Given the description of an element on the screen output the (x, y) to click on. 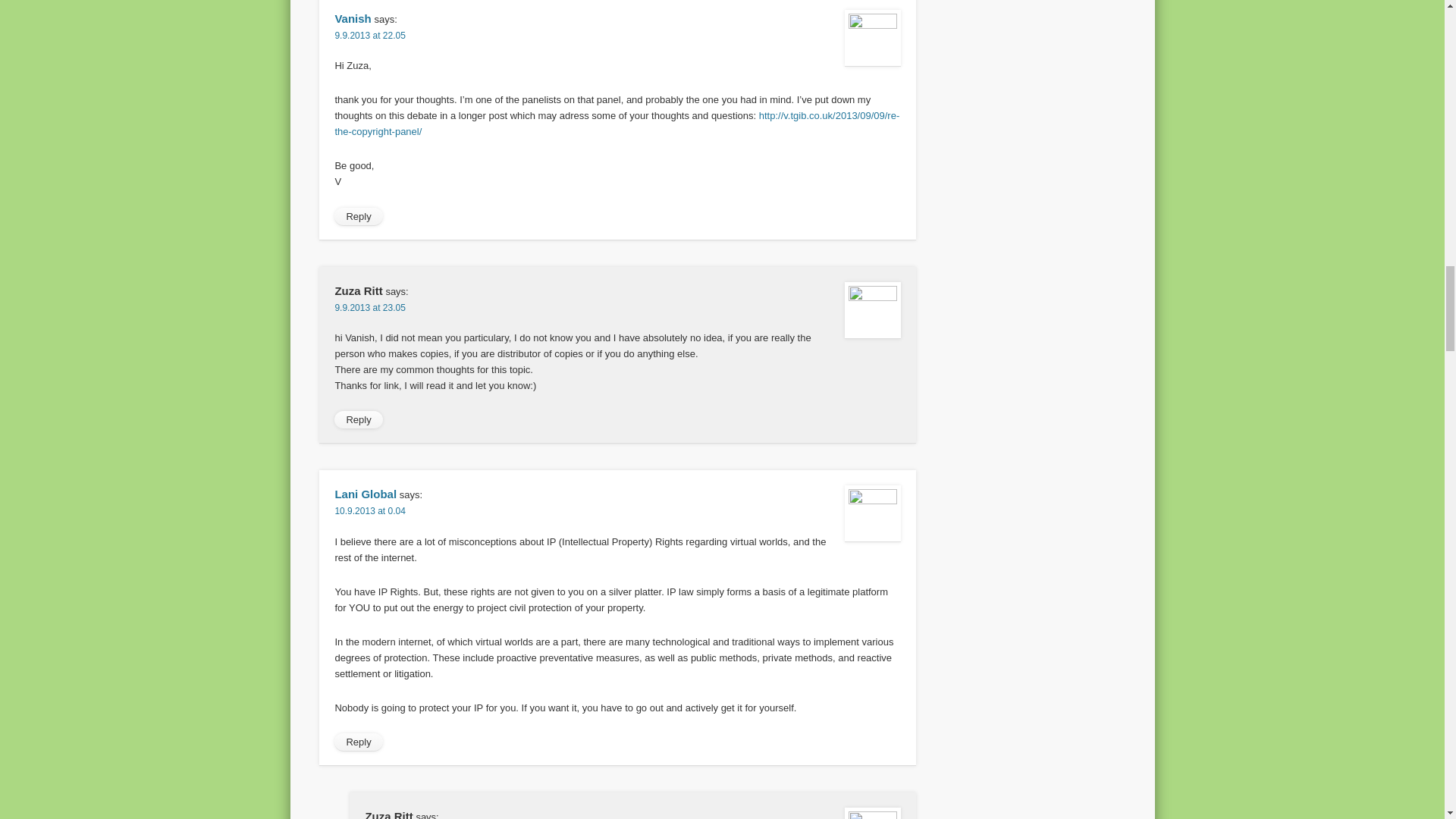
Reply (357, 217)
Lani Global (365, 493)
Reply (357, 420)
Reply (357, 742)
Vanish (352, 18)
9.9.2013 at 23.05 (369, 307)
10.9.2013 at 0.04 (369, 511)
9.9.2013 at 22.05 (369, 35)
